Given the description of an element on the screen output the (x, y) to click on. 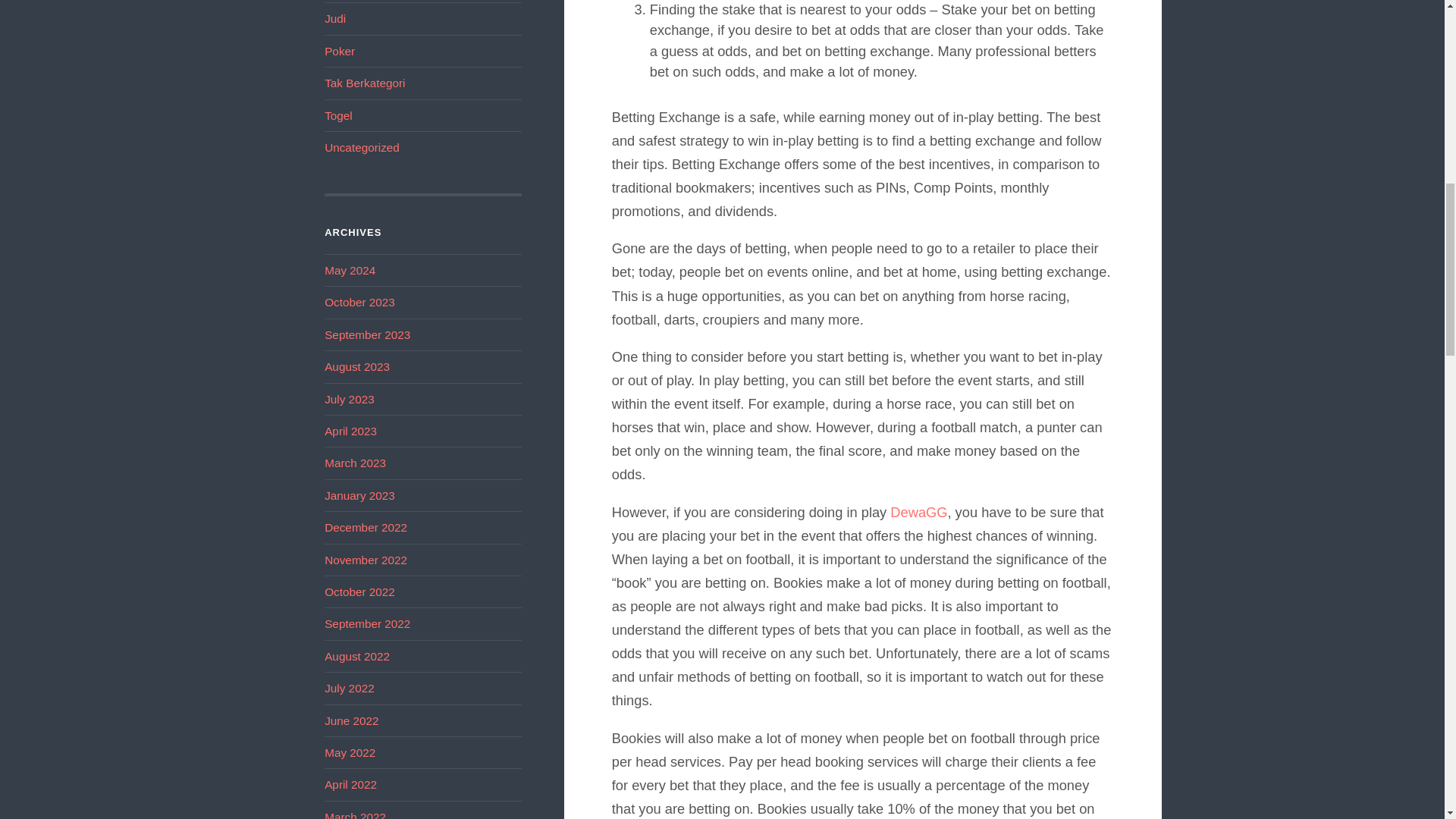
May 2022 (349, 752)
March 2022 (354, 814)
August 2023 (357, 366)
Uncategorized (361, 146)
September 2023 (367, 334)
September 2022 (367, 623)
November 2022 (365, 559)
July 2023 (349, 399)
Togel (338, 115)
Poker (339, 51)
April 2023 (350, 431)
June 2022 (351, 720)
August 2022 (357, 656)
October 2022 (359, 591)
Judi (335, 18)
